Given the description of an element on the screen output the (x, y) to click on. 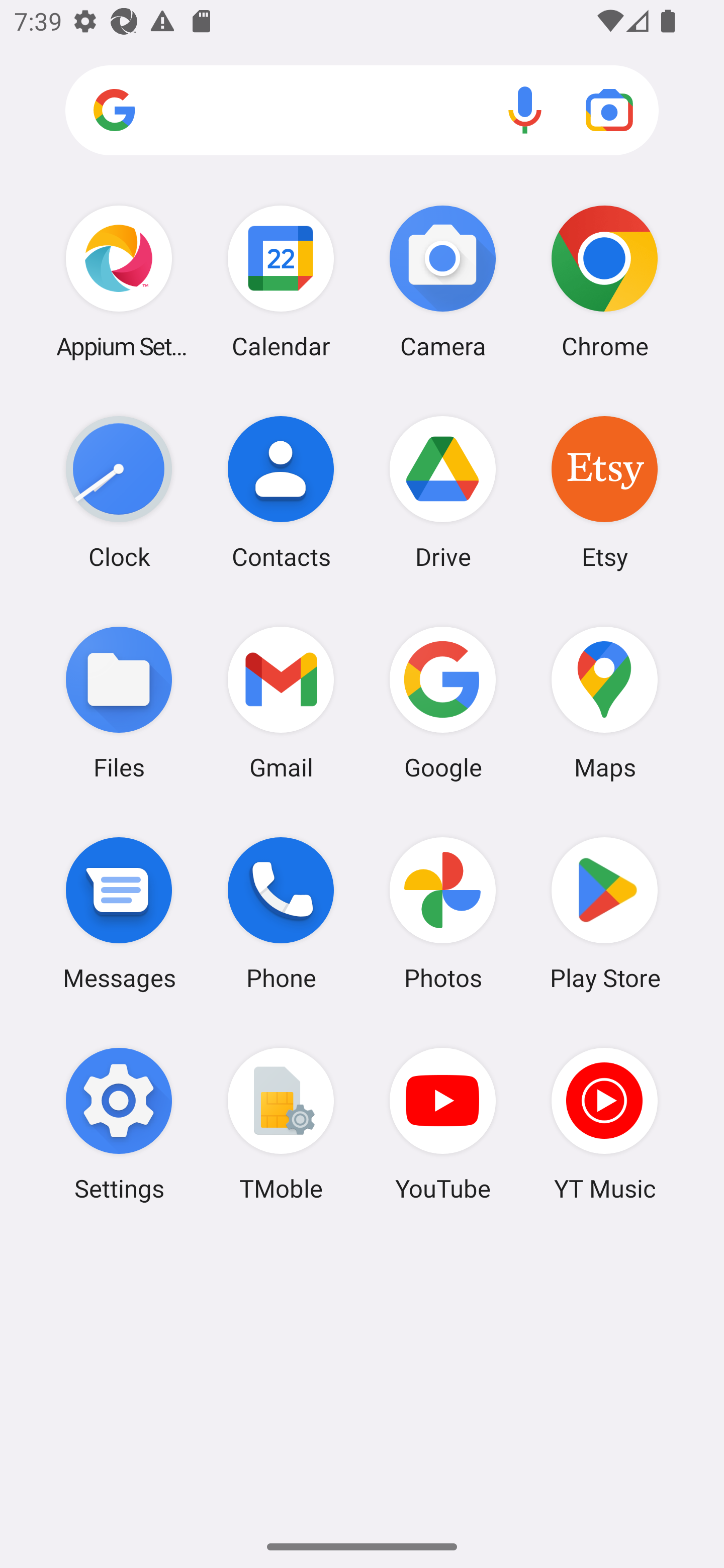
Search apps, web and more (361, 110)
Voice search (524, 109)
Google Lens (608, 109)
Appium Settings (118, 281)
Calendar (280, 281)
Camera (443, 281)
Chrome (604, 281)
Clock (118, 492)
Contacts (280, 492)
Drive (443, 492)
Etsy (604, 492)
Files (118, 702)
Gmail (280, 702)
Google (443, 702)
Maps (604, 702)
Messages (118, 913)
Phone (280, 913)
Photos (443, 913)
Play Store (604, 913)
Settings (118, 1124)
TMoble (280, 1124)
YouTube (443, 1124)
YT Music (604, 1124)
